Given the description of an element on the screen output the (x, y) to click on. 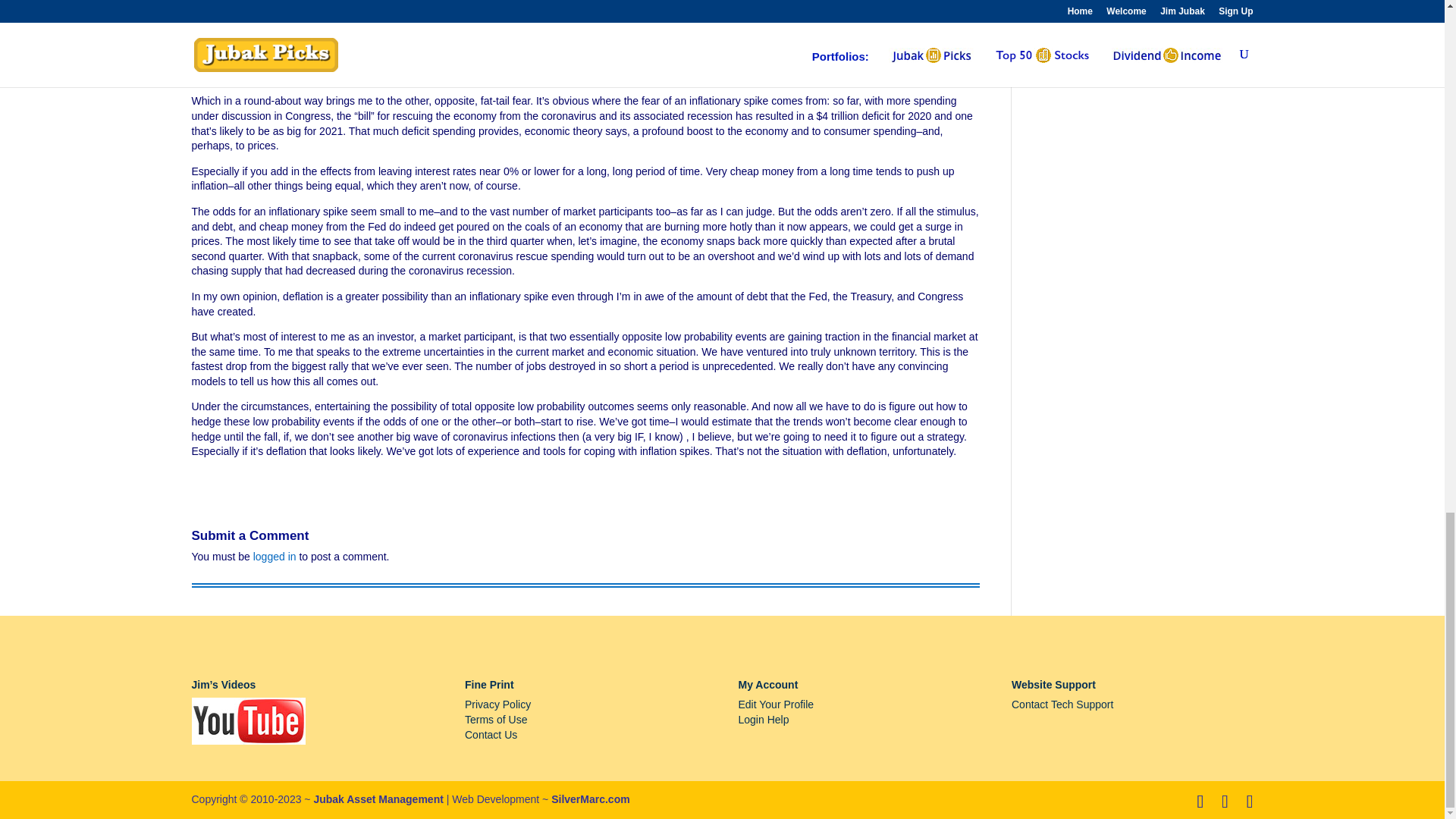
Terms of Use (495, 719)
Edit Your Profile (775, 704)
Privacy Policy (497, 704)
logged in (275, 556)
Jim's Videos (247, 720)
Contact Us (490, 734)
Login Help (763, 719)
Jubak Asset Management (377, 799)
SilverMarc.com (590, 799)
Contact Tech Support (1062, 704)
